Given the description of an element on the screen output the (x, y) to click on. 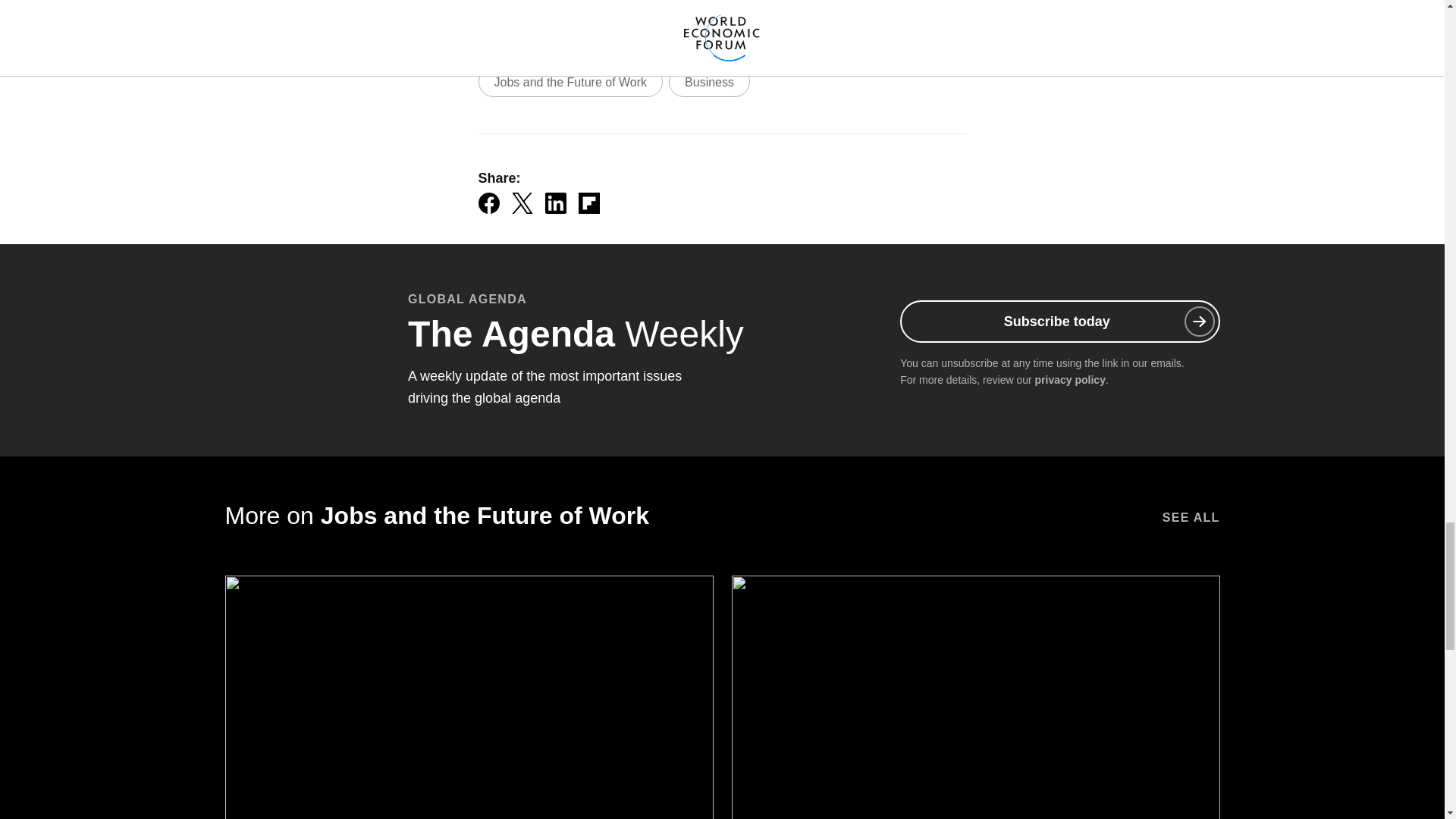
privacy policy (1070, 379)
Business (708, 81)
Jobs and the Future of Work (569, 81)
SEE ALL (1190, 515)
Subscribe today (1059, 321)
